Given the description of an element on the screen output the (x, y) to click on. 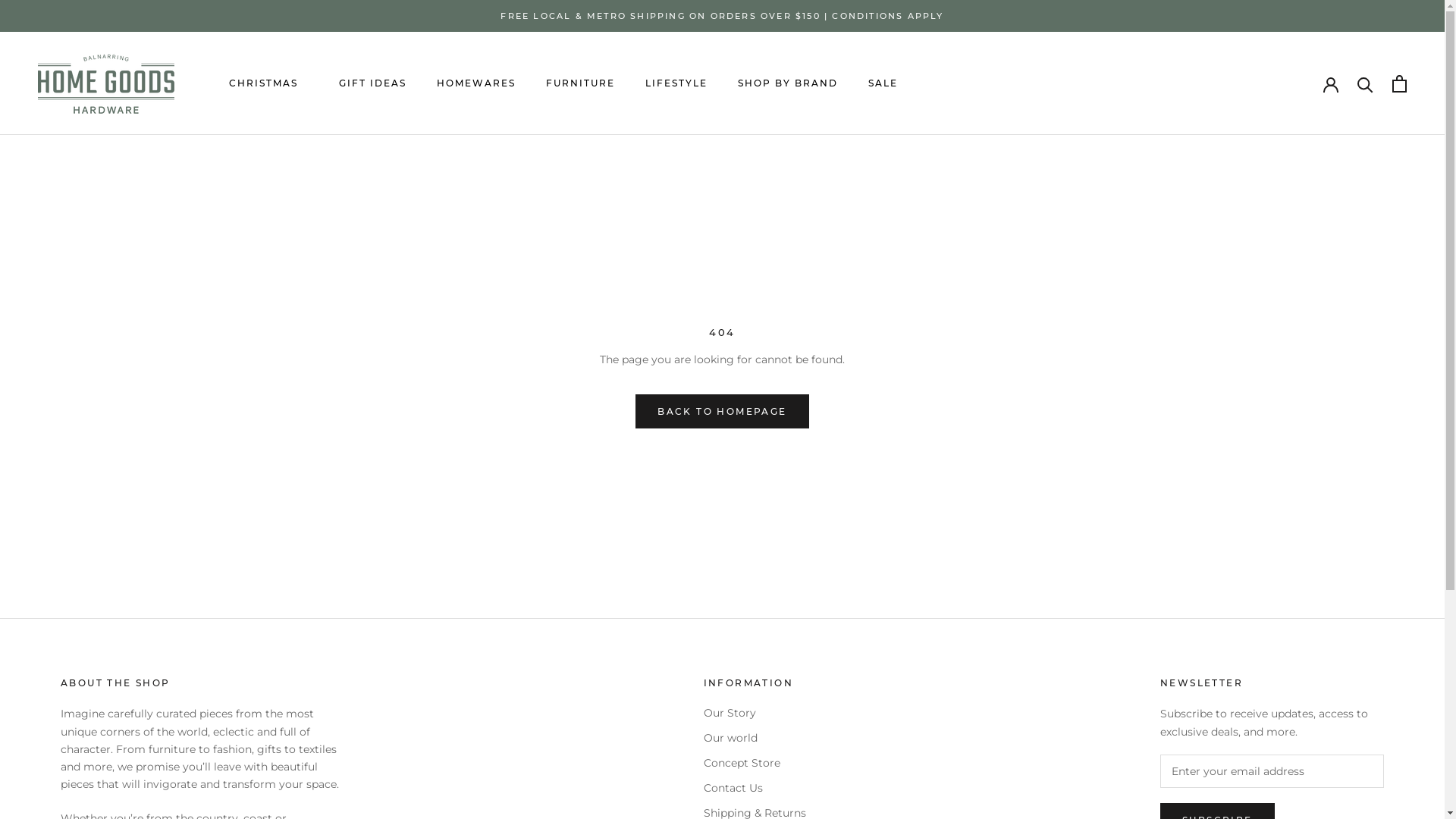
SHOP BY BRAND Element type: text (787, 83)
BACK TO HOMEPAGE Element type: text (721, 411)
LIFESTYLE Element type: text (676, 83)
Our world Element type: text (754, 738)
GIFT IDEAS Element type: text (372, 83)
Concept Store Element type: text (754, 763)
HOMEWARES Element type: text (475, 83)
FURNITURE Element type: text (580, 83)
Contact Us Element type: text (754, 788)
SALE Element type: text (883, 83)
Our Story Element type: text (754, 713)
